Given the description of an element on the screen output the (x, y) to click on. 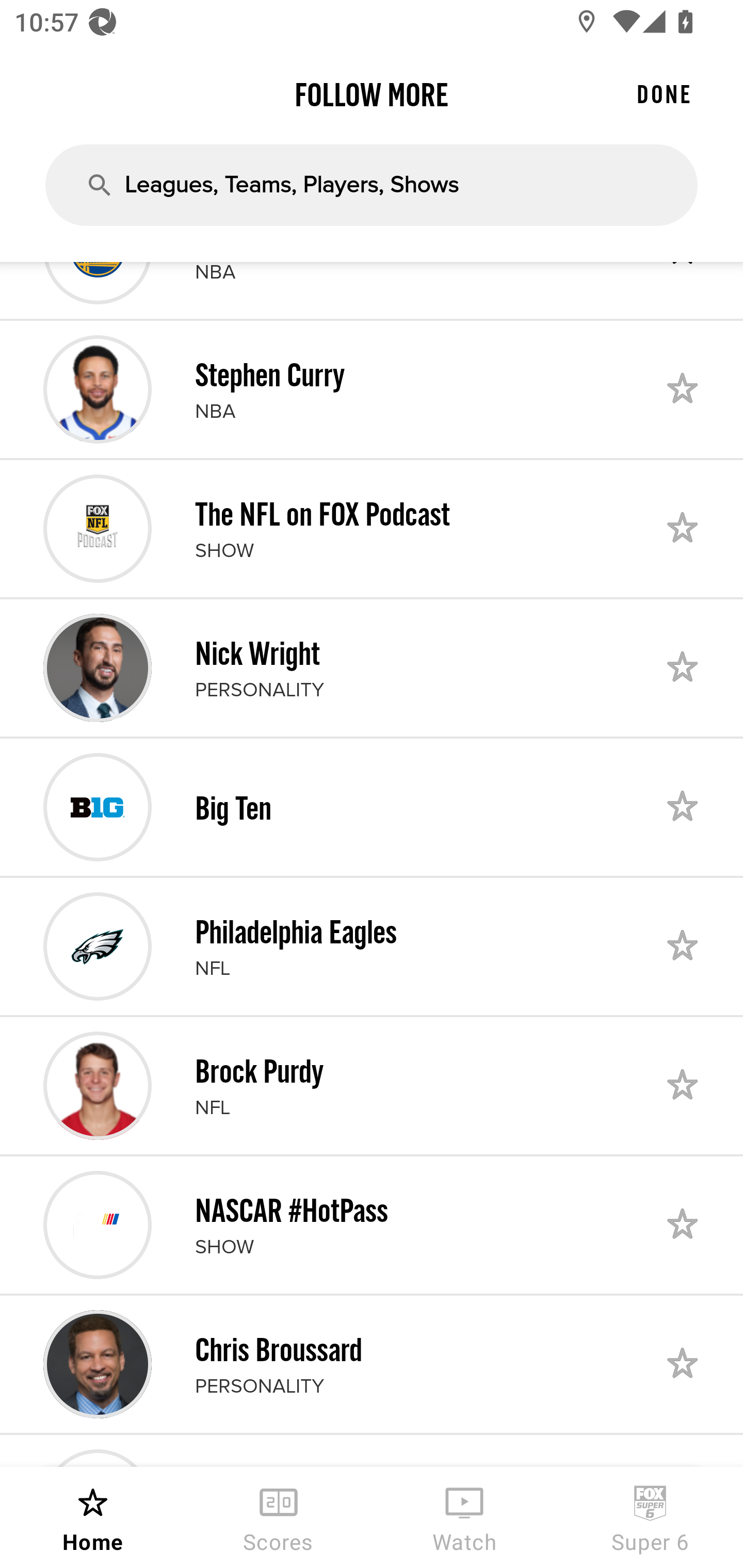
DONE (663, 93)
Leagues, Teams, Players, Shows (371, 184)
Stephen Curry NBA (371, 389)
The NFL on FOX Podcast SHOW (371, 528)
Nick Wright PERSONALITY (371, 667)
Big Ten (371, 807)
Philadelphia Eagles NFL (371, 946)
Brock Purdy NFL (371, 1085)
NASCAR #HotPass SHOW (371, 1225)
Chris Broussard PERSONALITY (371, 1364)
Scores (278, 1517)
Watch (464, 1517)
Super 6 (650, 1517)
